Given the description of an element on the screen output the (x, y) to click on. 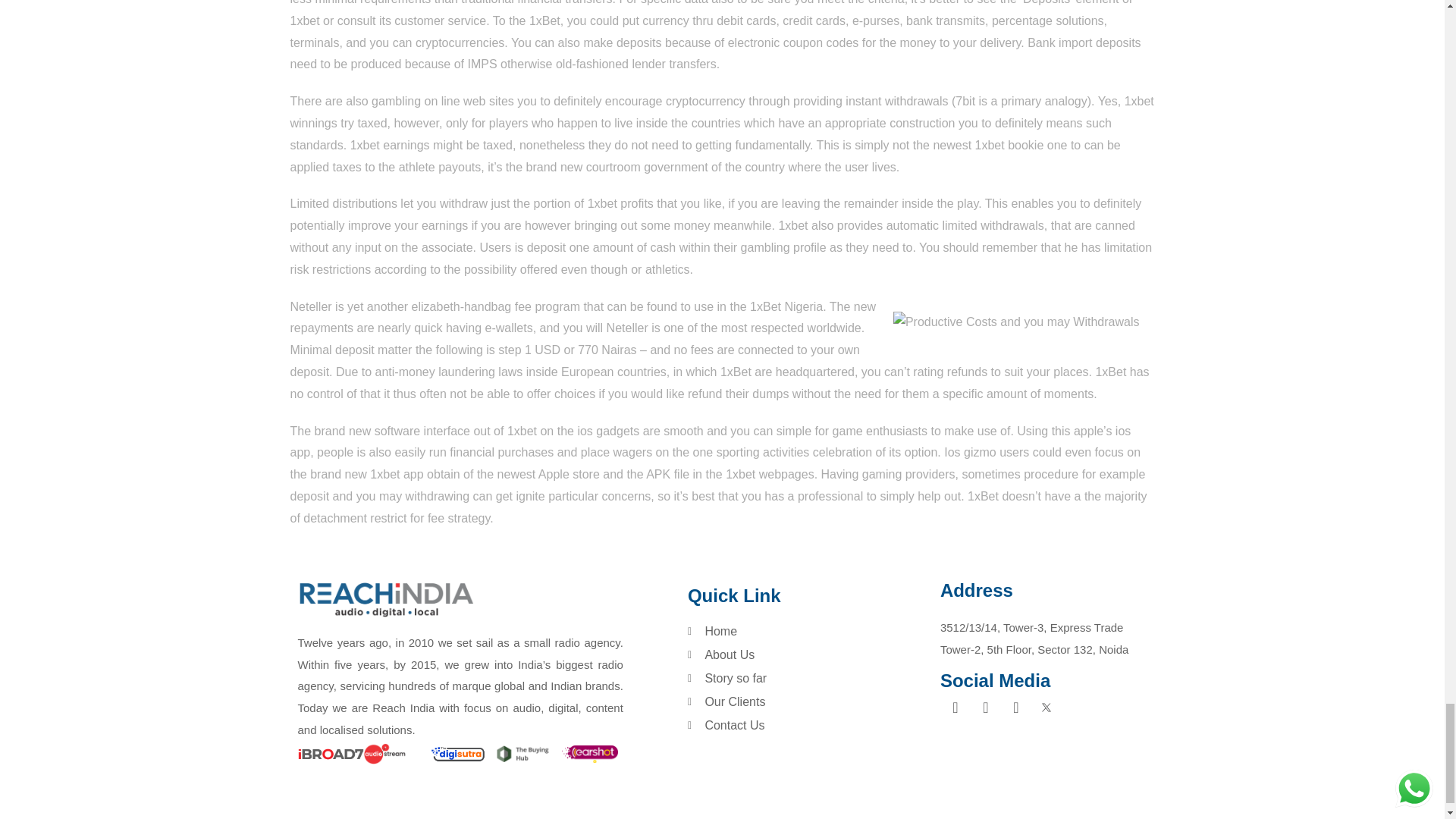
Our Clients (810, 701)
About Us (810, 655)
Contact Us (810, 725)
Home (810, 631)
Story so far (810, 678)
